Given the description of an element on the screen output the (x, y) to click on. 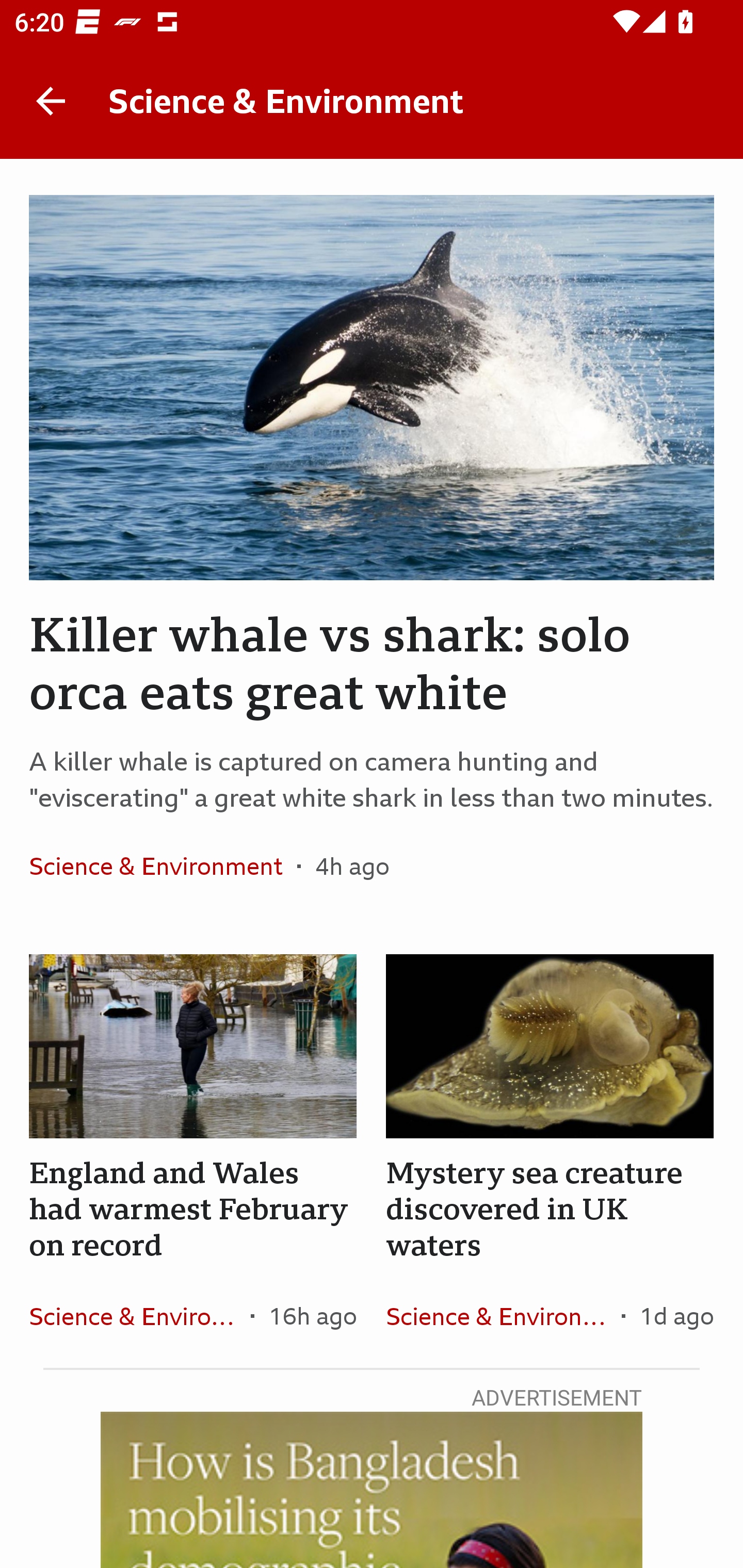
Back (50, 101)
